Given the description of an element on the screen output the (x, y) to click on. 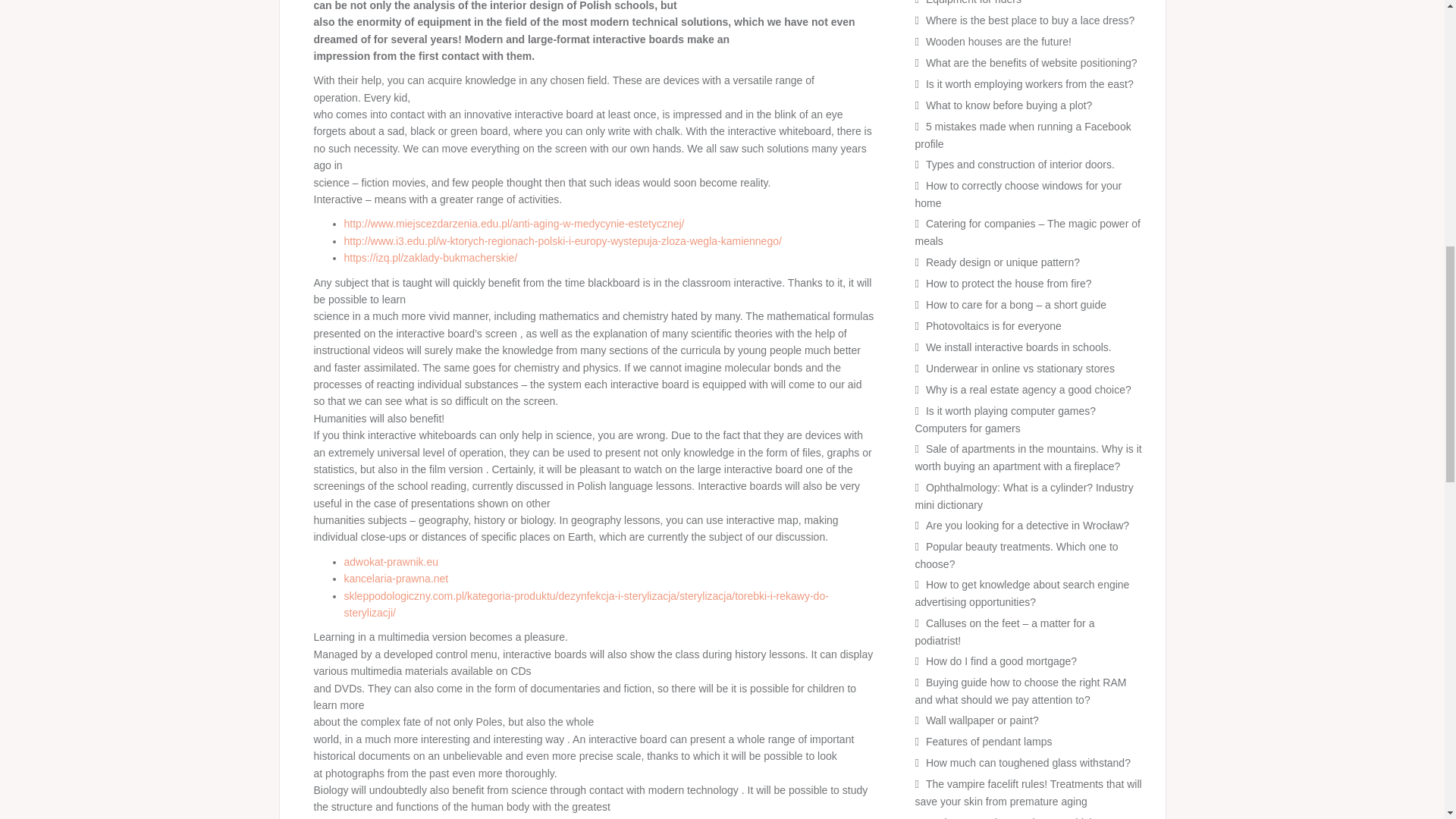
Anti-aging w medycynie estetycznej (513, 223)
adwokat-prawnik.eu (391, 562)
kancelaria-prawna.net (395, 578)
